Given the description of an element on the screen output the (x, y) to click on. 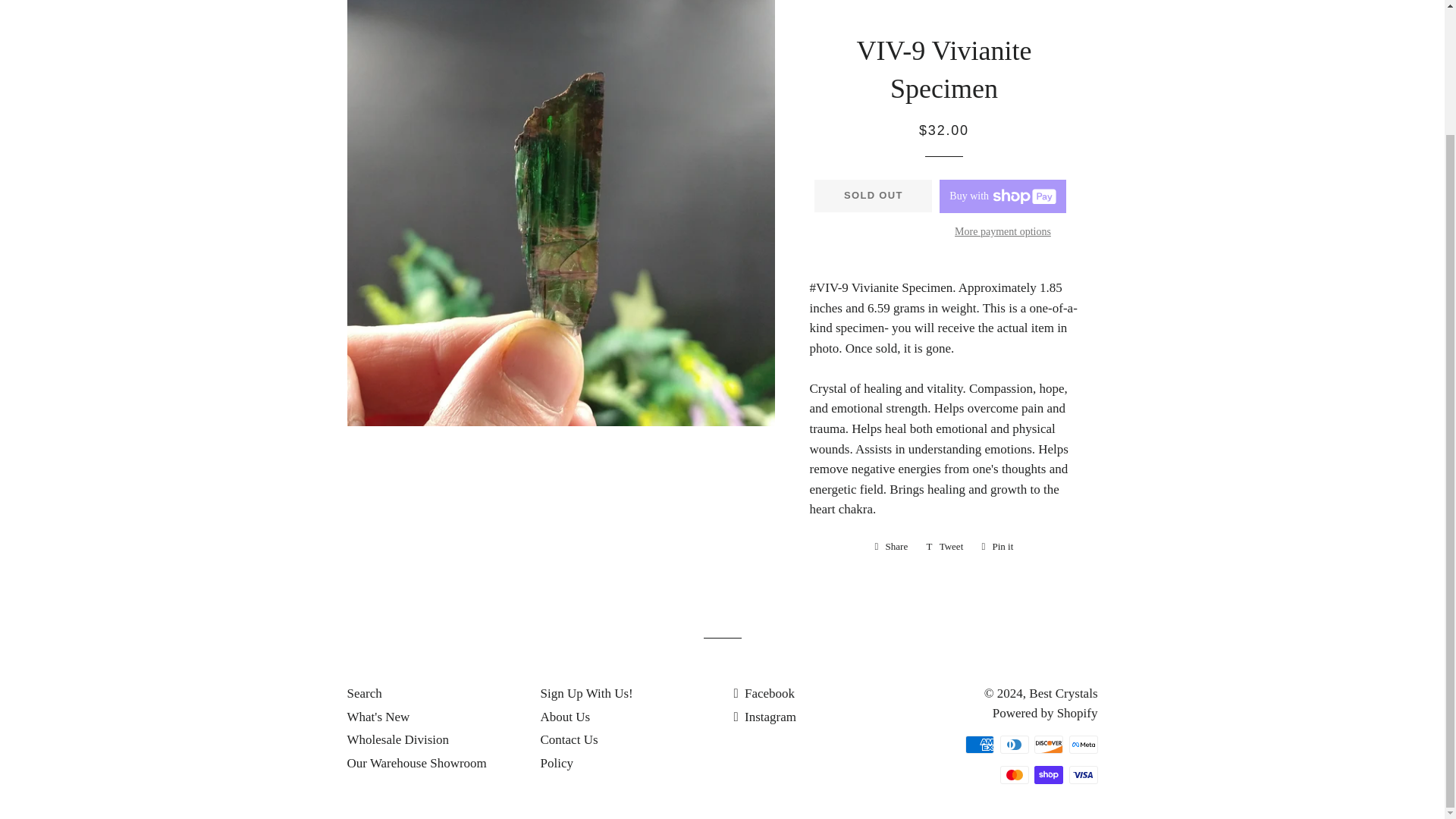
Best Crystals (1063, 693)
Visa (1082, 774)
About Us (564, 716)
Shop Pay (1047, 774)
Search (364, 693)
Facebook (997, 546)
Policy (763, 693)
Our Warehouse Showroom (556, 762)
Pin on Pinterest (416, 762)
Meta Pay (997, 546)
Mastercard (1082, 744)
Contact Us (1012, 774)
Share on Facebook (568, 739)
Diners Club (891, 546)
